Given the description of an element on the screen output the (x, y) to click on. 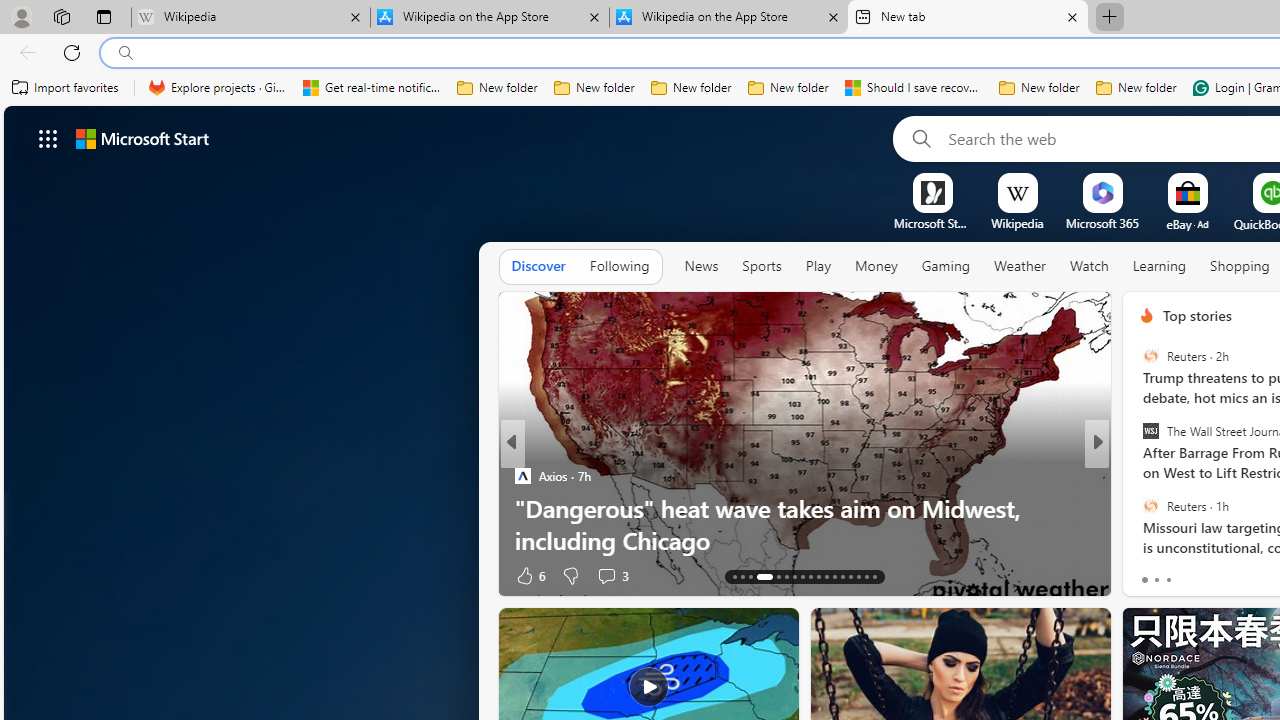
100 Like (1151, 574)
AutomationID: tab-20 (801, 576)
View comments 4 Comment (1234, 575)
View comments 6 Comment (1234, 575)
insightsoftware.com (1183, 475)
View comments 11 Comment (1244, 574)
The Wall Street Journal (1149, 431)
Reuters (1149, 505)
View comments 4 Comment (1241, 574)
